Given the description of an element on the screen output the (x, y) to click on. 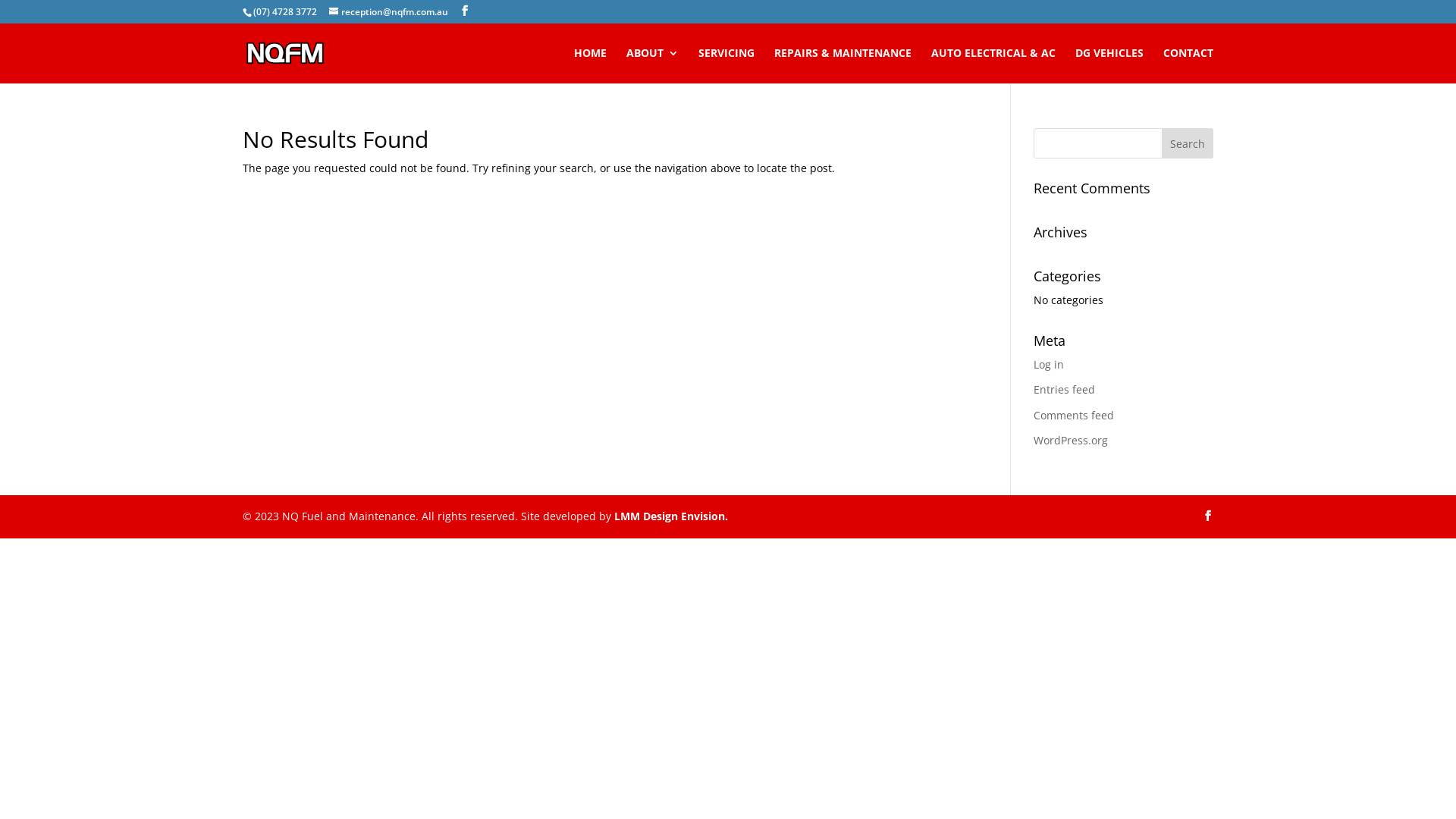
HOME Element type: text (590, 65)
SERVICING Element type: text (726, 65)
AUTO ELECTRICAL & AC Element type: text (993, 65)
Comments feed Element type: text (1073, 414)
WordPress.org Element type: text (1070, 440)
reception@nqfm.com.au Element type: text (388, 11)
LMM Design Envision. Element type: text (671, 515)
ABOUT Element type: text (652, 65)
CONTACT Element type: text (1188, 65)
DG VEHICLES Element type: text (1109, 65)
Log in Element type: text (1048, 364)
REPAIRS & MAINTENANCE Element type: text (842, 65)
Search Element type: text (1187, 143)
Entries feed Element type: text (1064, 389)
